Given the description of an element on the screen output the (x, y) to click on. 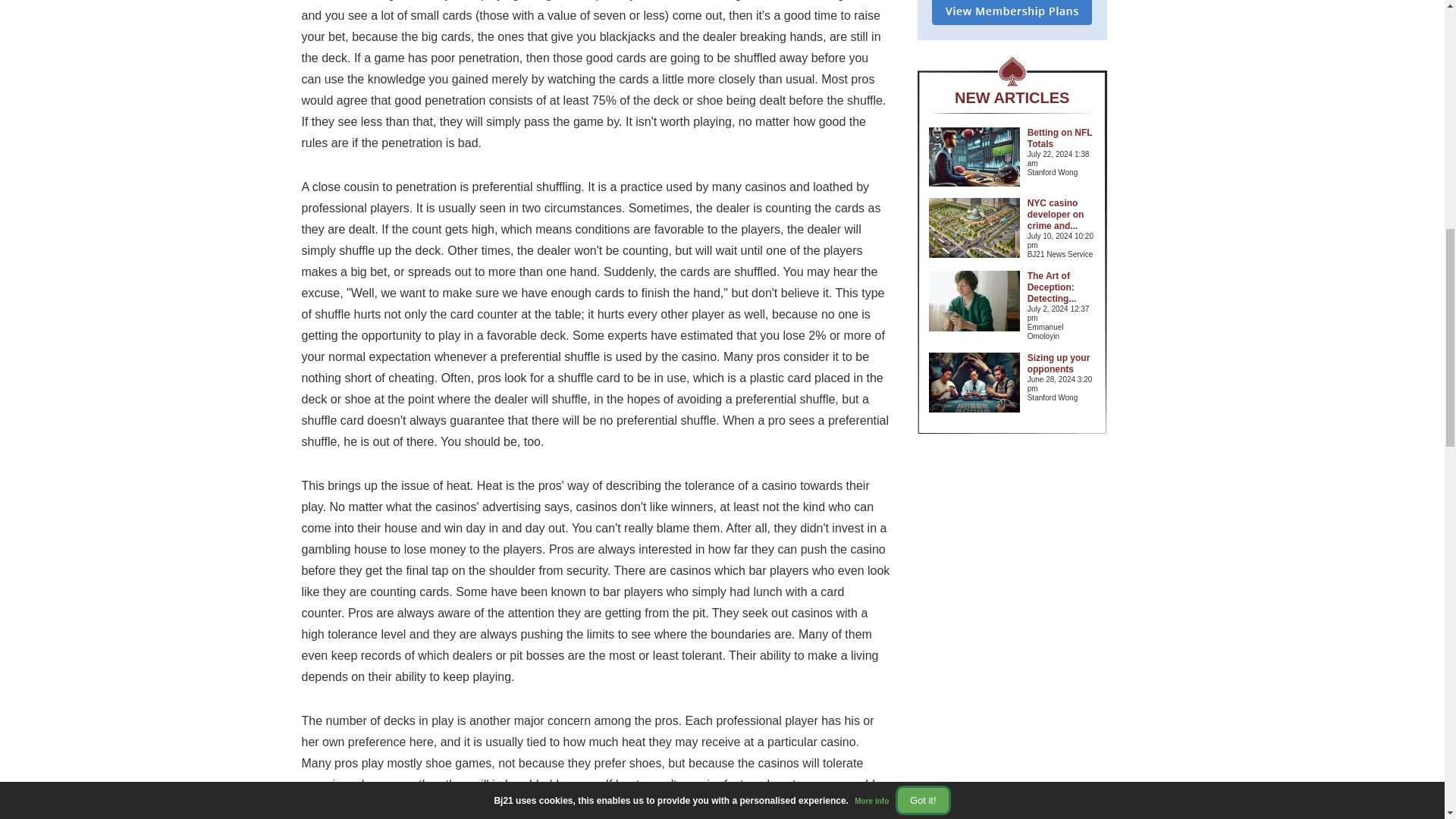
BJ21 News Service (1061, 254)
Sizing up your opponents (1058, 363)
NYC casino developer on crime and traffic (1055, 214)
Emmanuel Omoloyin (1061, 331)
Stanford Wong (1061, 172)
Betting on NFL Totals (1060, 138)
Stanford Wong (1061, 397)
